Given the description of an element on the screen output the (x, y) to click on. 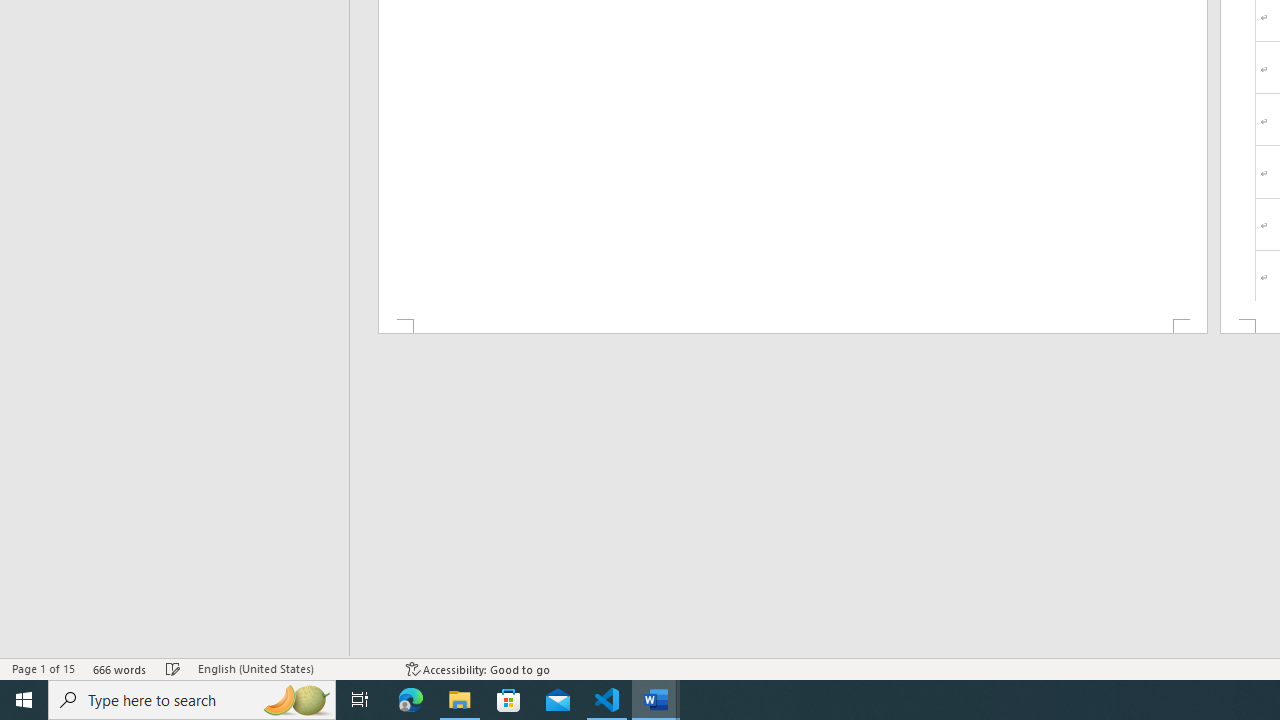
Page Number Page 1 of 15 (43, 668)
